Given the description of an element on the screen output the (x, y) to click on. 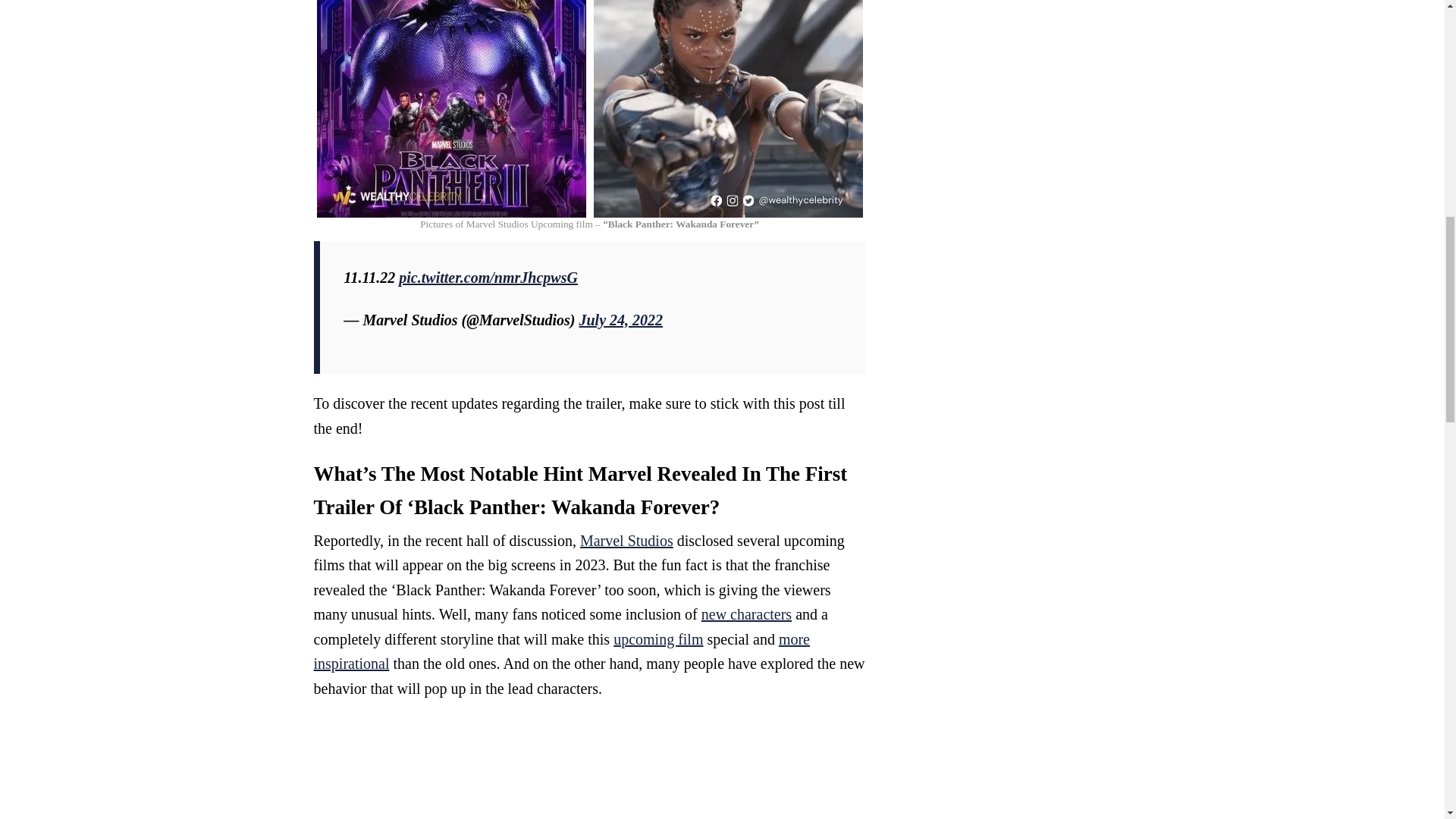
Black Panther (590, 108)
